Given the description of an element on the screen output the (x, y) to click on. 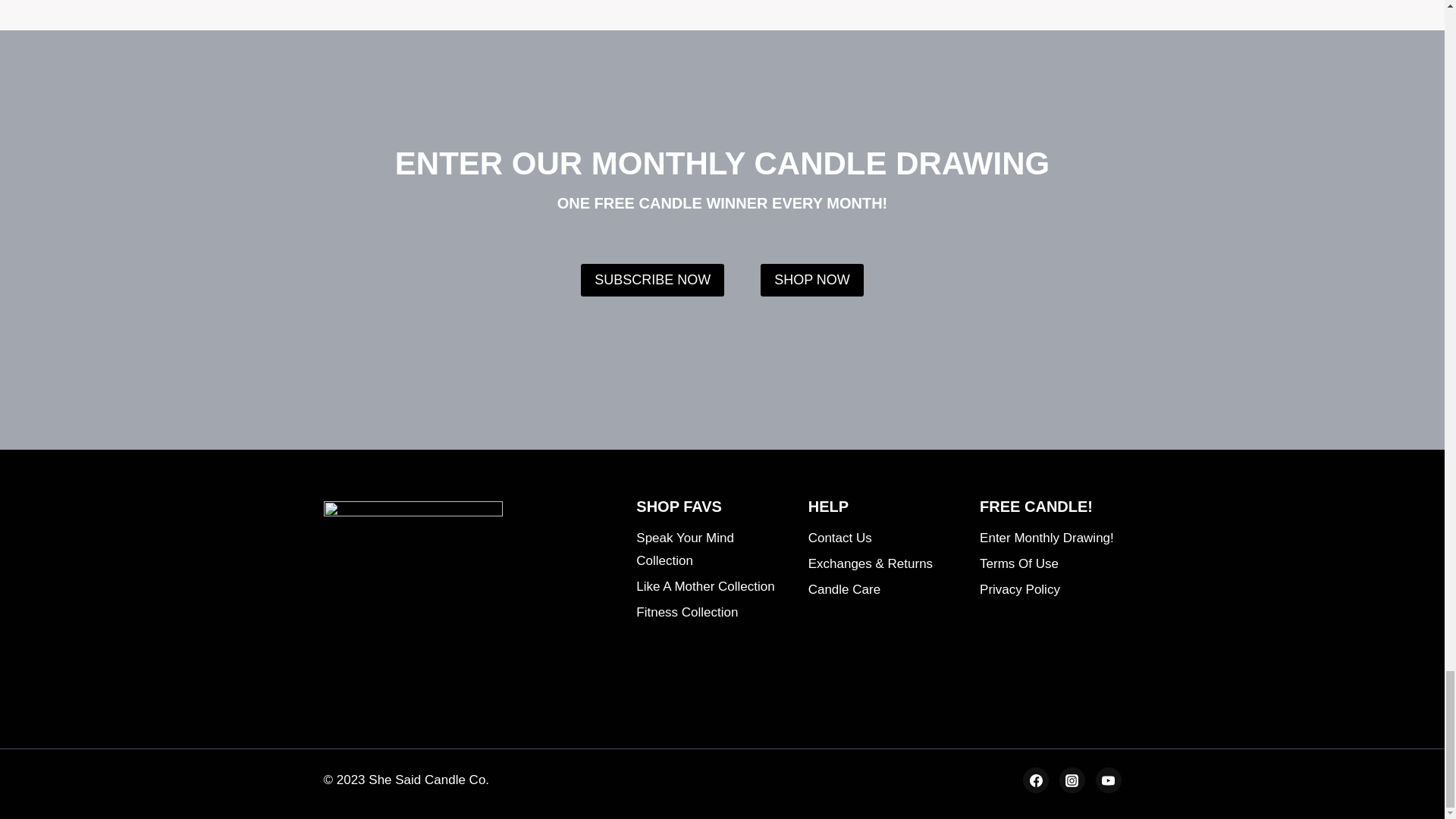
Candle Care (878, 589)
Speak Your Mind Collection (706, 549)
Enter Monthly Drawing! (1050, 538)
SUBSCRIBE NOW (651, 279)
Like A Mother Collection (706, 587)
SHOP NOW (811, 279)
Contact Us (878, 538)
Fitness Collection (706, 612)
Terms Of Use (1050, 564)
